Given the description of an element on the screen output the (x, y) to click on. 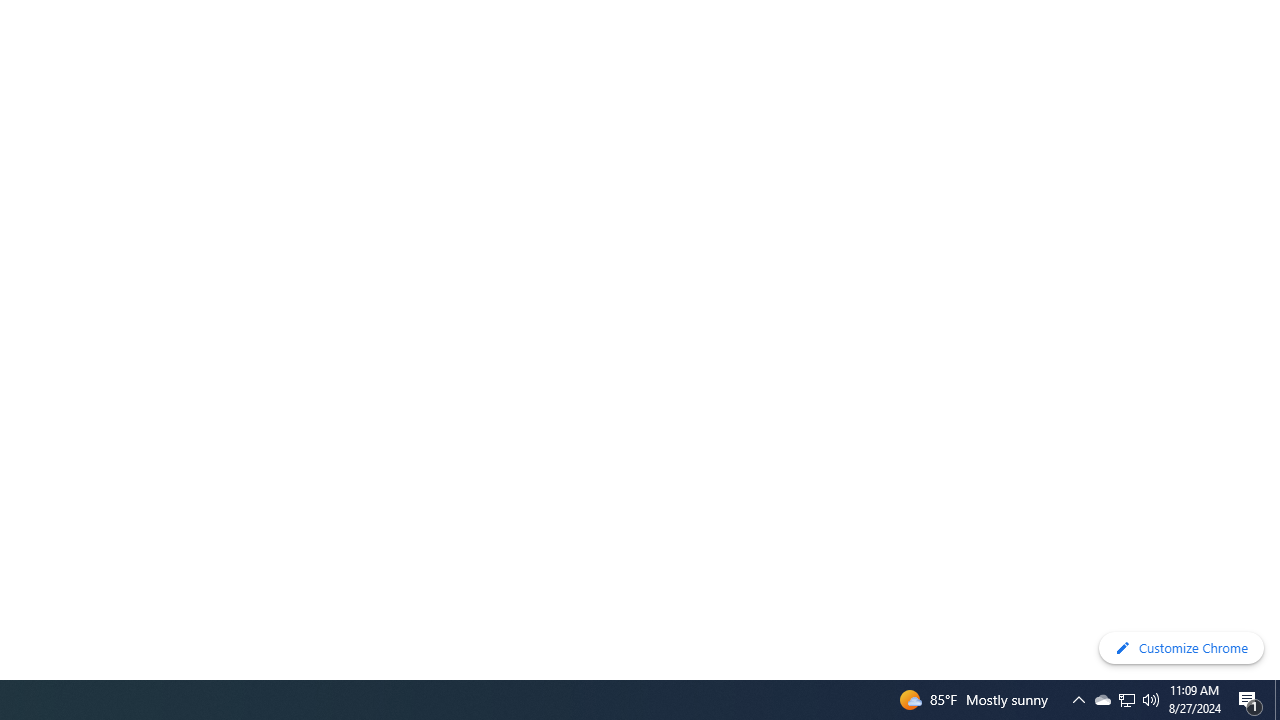
Customize Chrome (1181, 647)
